Given the description of an element on the screen output the (x, y) to click on. 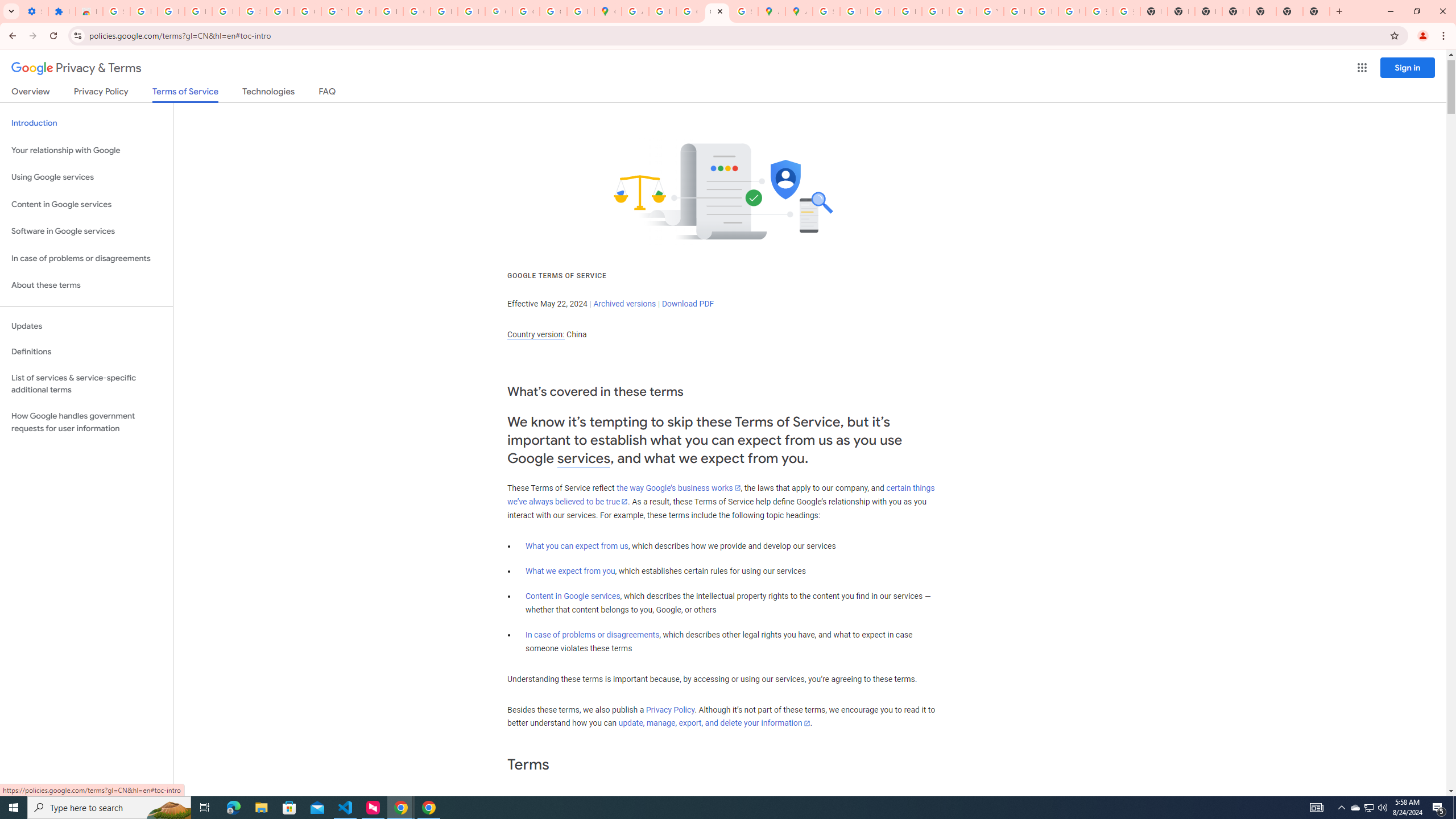
You (1422, 35)
Search tabs (10, 11)
In case of problems or disagreements (592, 634)
Sign in - Google Accounts (826, 11)
YouTube (990, 11)
Learn how to find your photos - Google Photos Help (197, 11)
Address and search bar (735, 35)
Archived versions (624, 303)
New Tab (1236, 11)
Content in Google services (572, 596)
Bookmark this tab (1393, 35)
FAQ (327, 93)
